Given the description of an element on the screen output the (x, y) to click on. 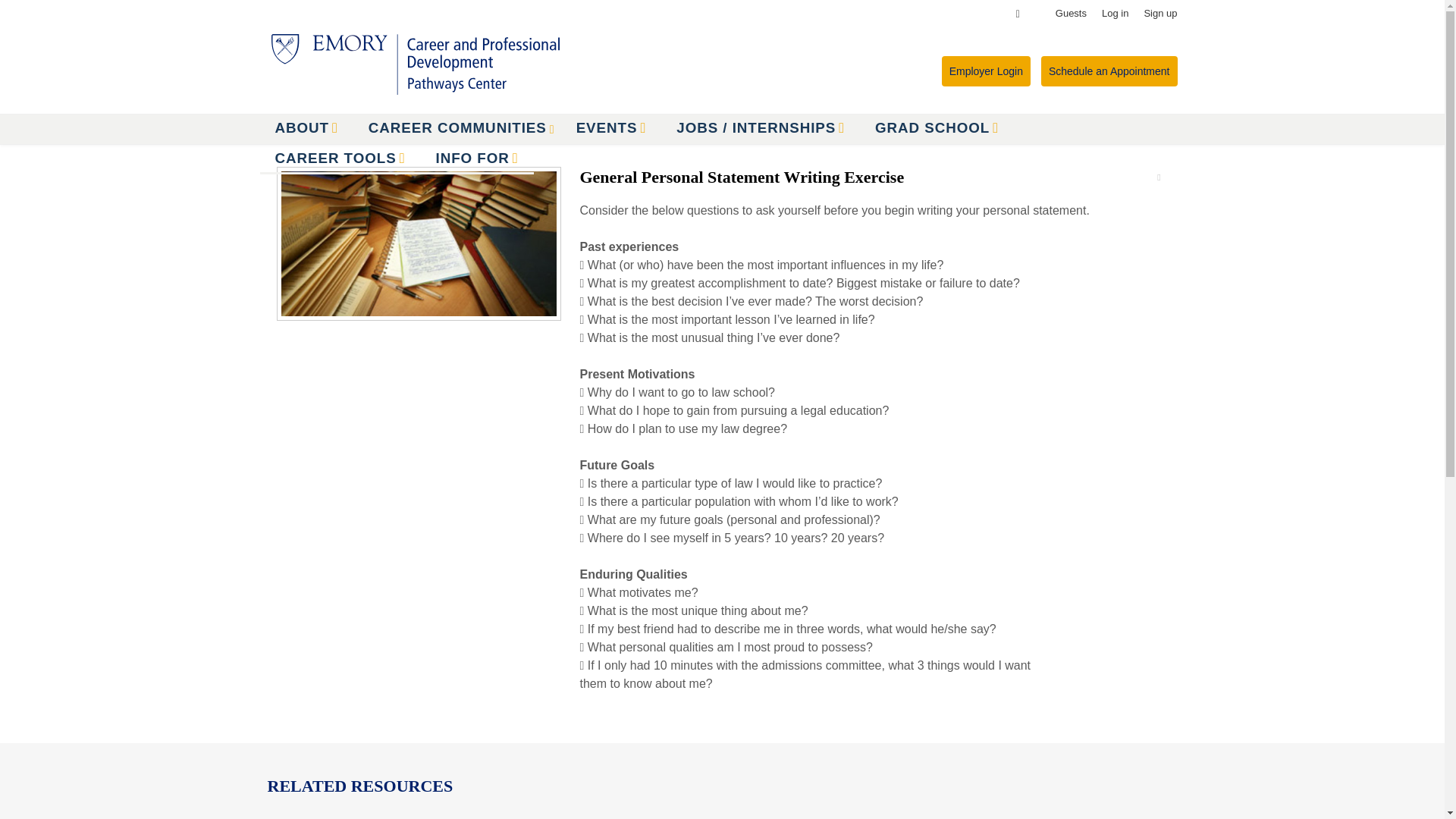
EVENTS (611, 127)
CAREER COMMUNITIES (450, 127)
ABOUT (305, 127)
Sign up (1159, 13)
Guests (1070, 13)
Sign up for an account (1159, 13)
Schedule an Appointment (1109, 71)
Submit Search (38, 9)
Log in to the guest contributors portal (1070, 13)
Employer Login (986, 71)
Log in (1115, 13)
